Given the description of an element on the screen output the (x, y) to click on. 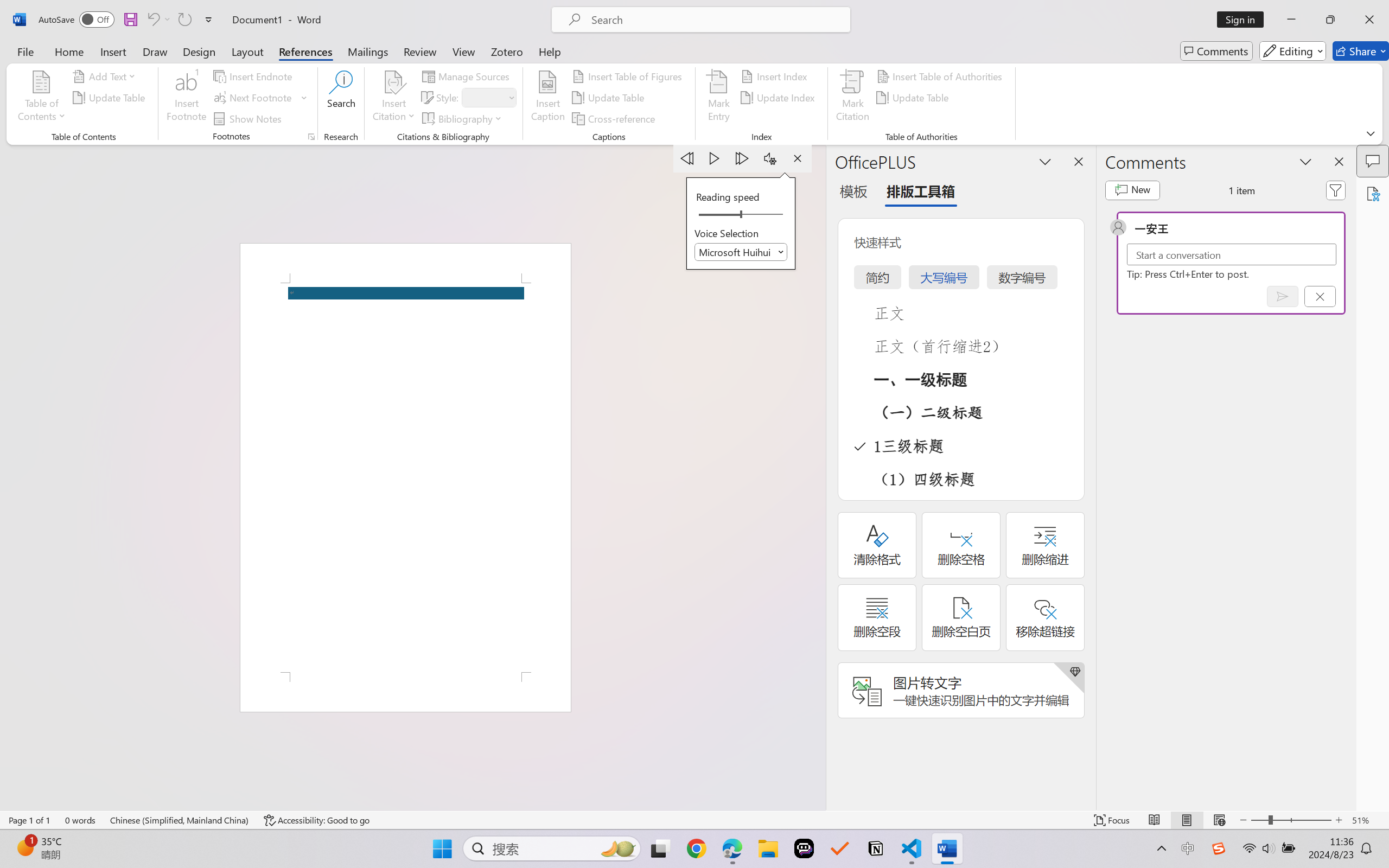
Next Paragraph (743, 158)
Cancel (1320, 296)
Editing (1292, 50)
